Given the description of an element on the screen output the (x, y) to click on. 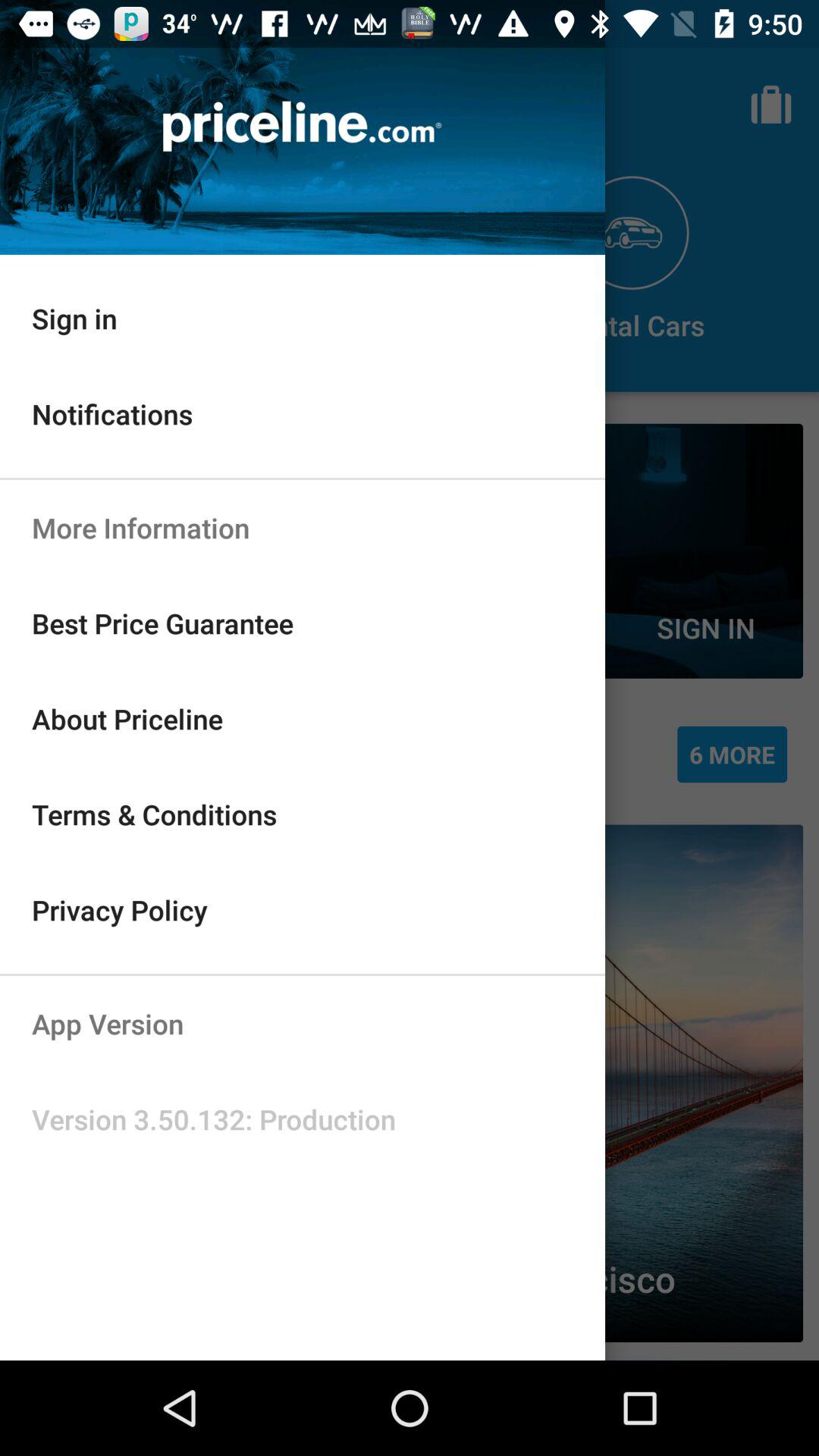
select the option with car image (632, 258)
choose header (302, 126)
click on 6 more (732, 754)
